Given the description of an element on the screen output the (x, y) to click on. 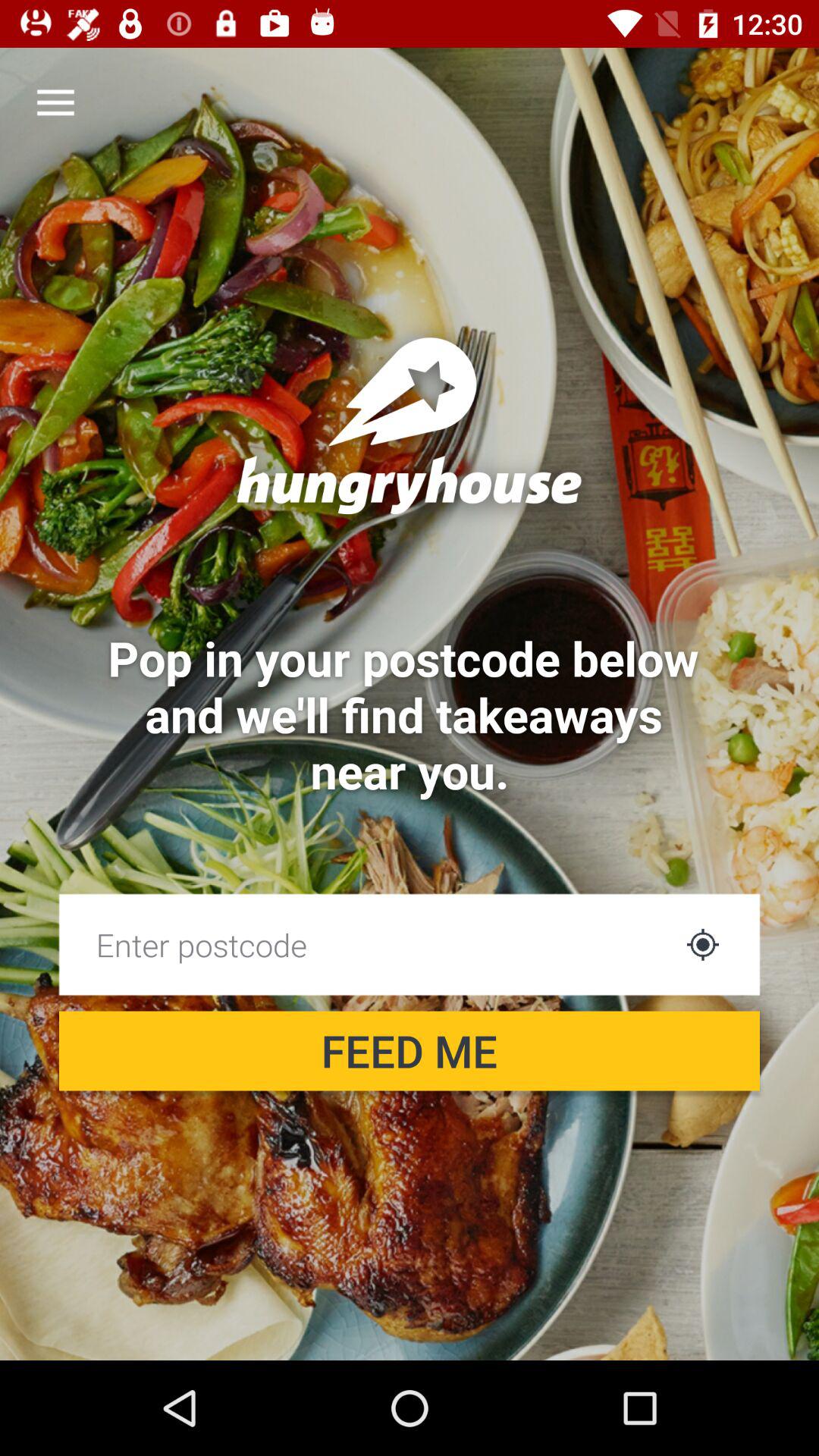
tap the item above the feed me item (365, 944)
